Given the description of an element on the screen output the (x, y) to click on. 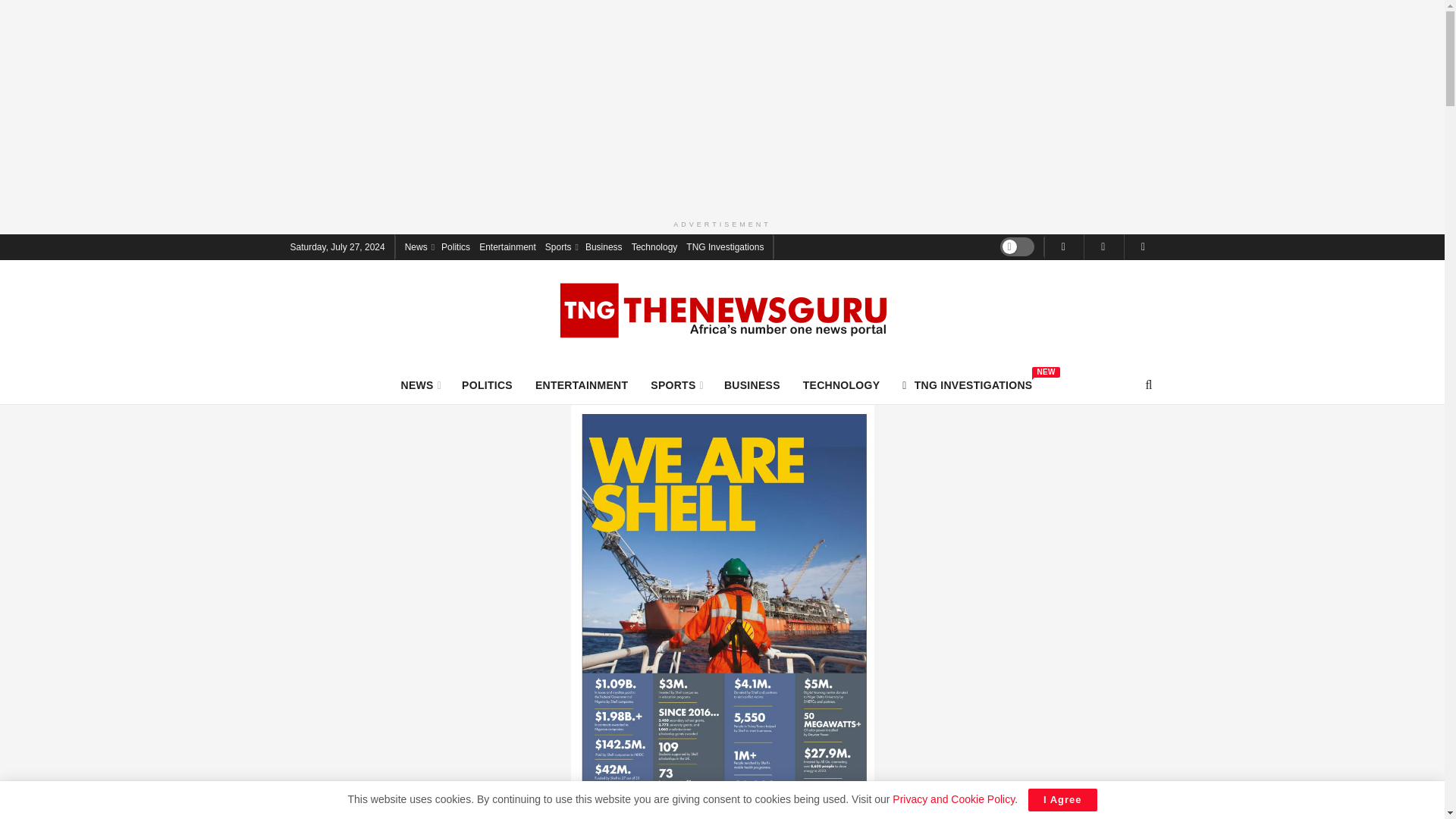
Technology (654, 246)
Entertainment (507, 246)
Politics (455, 246)
TNG Investigations (723, 246)
POLITICS (486, 384)
NEWS (420, 384)
Sports (560, 246)
News (967, 384)
Advertisement (418, 246)
TECHNOLOGY (751, 384)
SPORTS (841, 384)
ENTERTAINMENT (675, 384)
Business (581, 384)
